Given the description of an element on the screen output the (x, y) to click on. 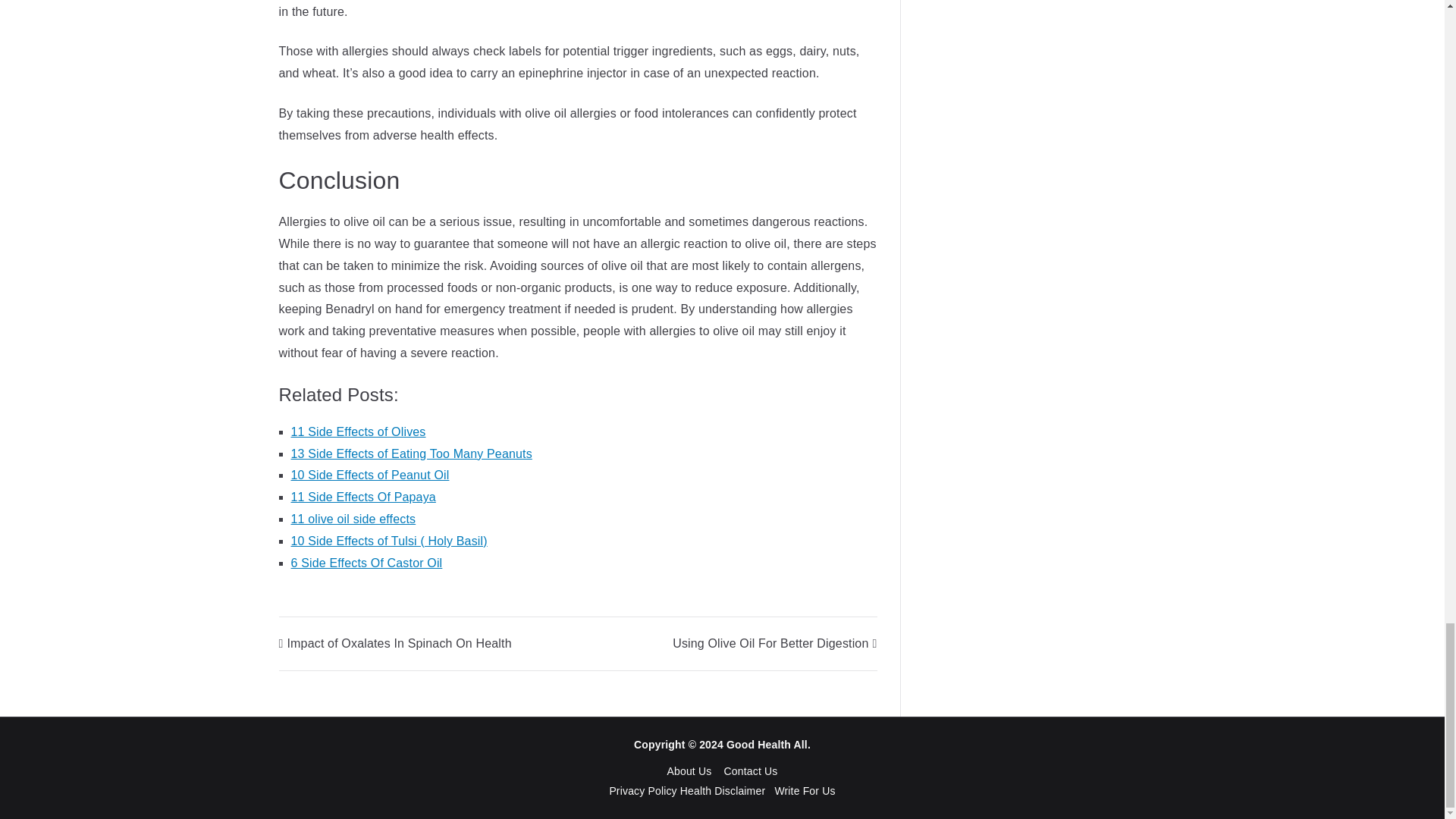
Using Olive Oil For Better Digestion (774, 643)
11 olive oil side effects (353, 518)
Write For Us (804, 790)
11 Side Effects Of Papaya (363, 496)
About Us (688, 770)
Good Health All (767, 744)
Health Disclaimer (722, 790)
Impact of Oxalates In Spinach On Health (395, 643)
13 Side Effects of Eating Too Many Peanuts (411, 453)
10 Side Effects of Peanut Oil (370, 474)
